Given the description of an element on the screen output the (x, y) to click on. 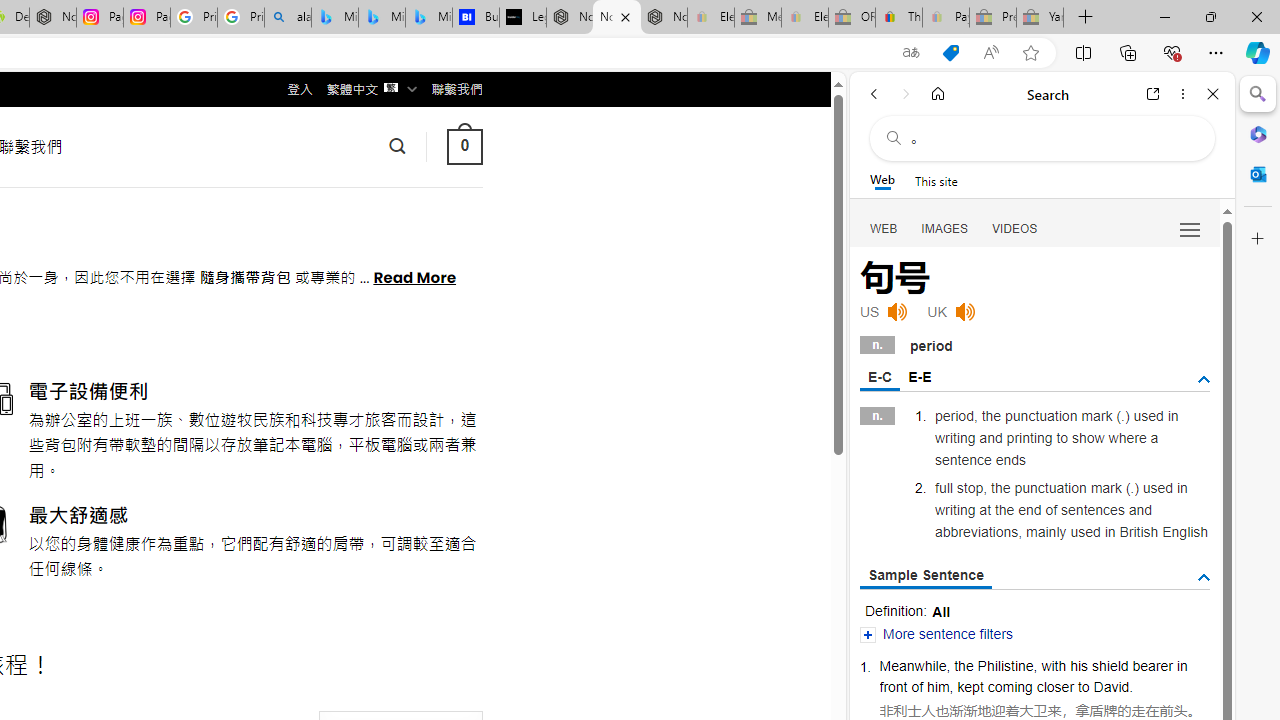
E-E (919, 376)
WEB (884, 228)
, (948, 665)
Press Room - eBay Inc. - Sleeping (993, 17)
